Given the description of an element on the screen output the (x, y) to click on. 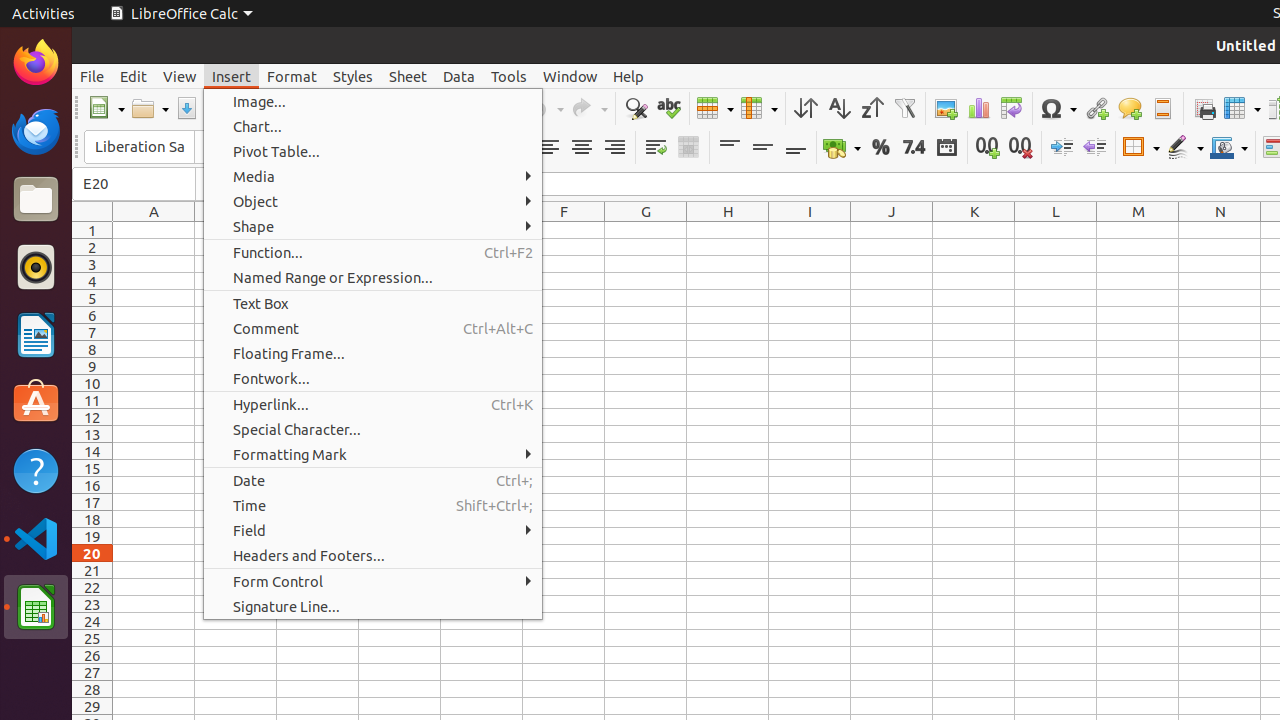
AutoFilter Element type: push-button (904, 108)
Number Element type: push-button (913, 147)
Shape Element type: menu (373, 226)
Decrease Element type: push-button (1094, 147)
Redo Element type: push-button (589, 108)
